Given the description of an element on the screen output the (x, y) to click on. 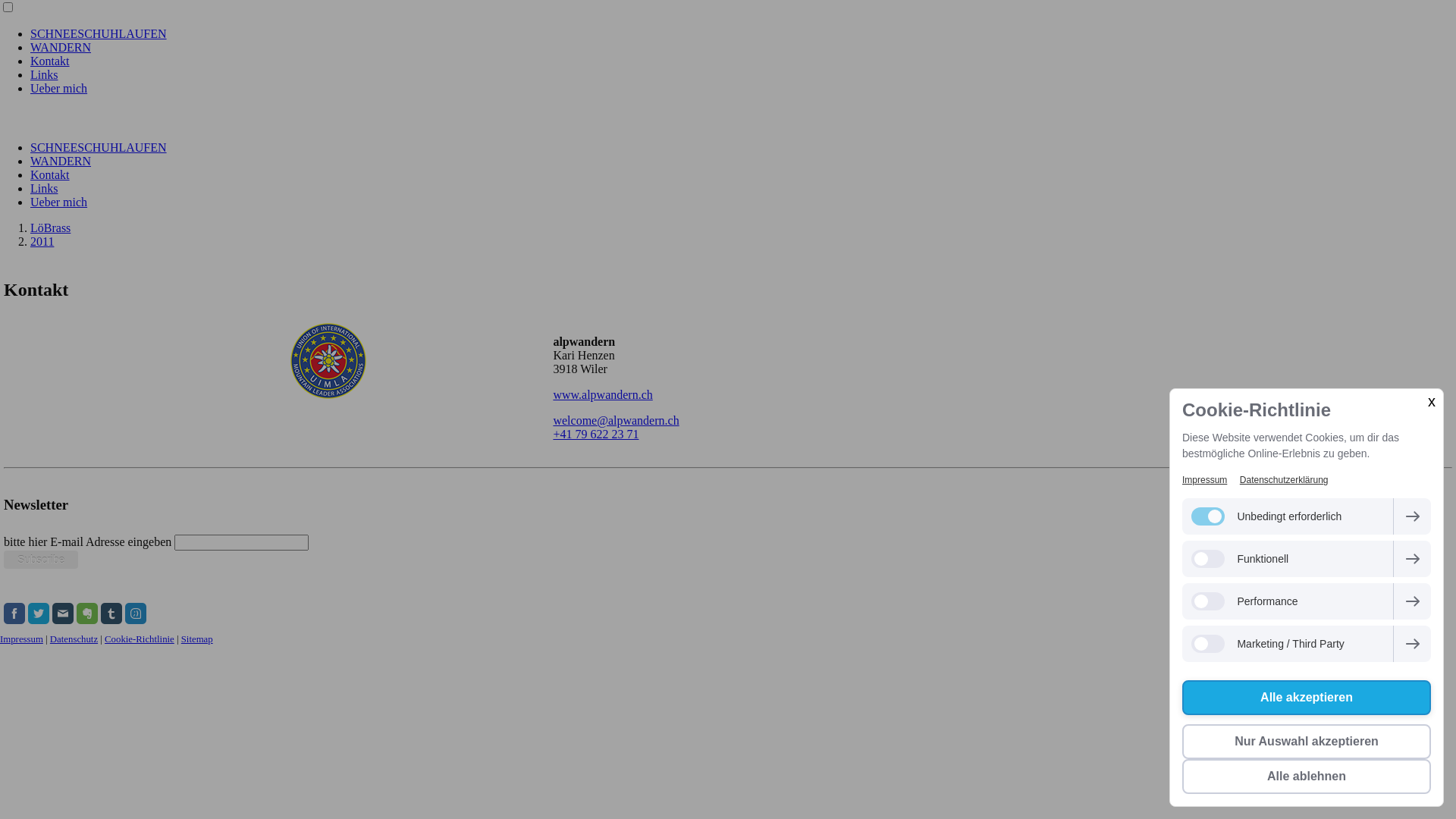
Tuenti Element type: hover (135, 613)
Kontakt Element type: text (49, 60)
Cookie-Richtlinie Element type: text (139, 638)
WANDERN Element type: text (60, 46)
Sitemap Element type: text (197, 638)
Evernote Element type: hover (86, 613)
Impressum Element type: text (1204, 479)
Subscribe Element type: text (40, 559)
Nur Auswahl akzeptieren Element type: text (1306, 741)
Ueber mich Element type: text (58, 87)
SCHNEESCHUHLAUFEN Element type: text (98, 147)
Datenschutz Element type: text (73, 638)
Alle ablehnen Element type: text (1306, 776)
E-Mail Element type: hover (62, 613)
SCHNEESCHUHLAUFEN Element type: text (98, 33)
Ueber mich Element type: text (58, 201)
Twitter Element type: hover (38, 613)
Kontakt Element type: text (49, 174)
www.alpwandern.ch Element type: text (602, 394)
Links Element type: text (43, 74)
Tumblr Element type: hover (111, 613)
+41 79 622 23 71 Element type: text (595, 433)
2011 Element type: text (41, 241)
Alle akzeptieren Element type: text (1306, 697)
WANDERN Element type: text (60, 160)
Links Element type: text (43, 188)
Facebook Element type: hover (14, 613)
Impressum Element type: text (21, 638)
welcome@alpwandern.ch Element type: text (615, 420)
